Given the description of an element on the screen output the (x, y) to click on. 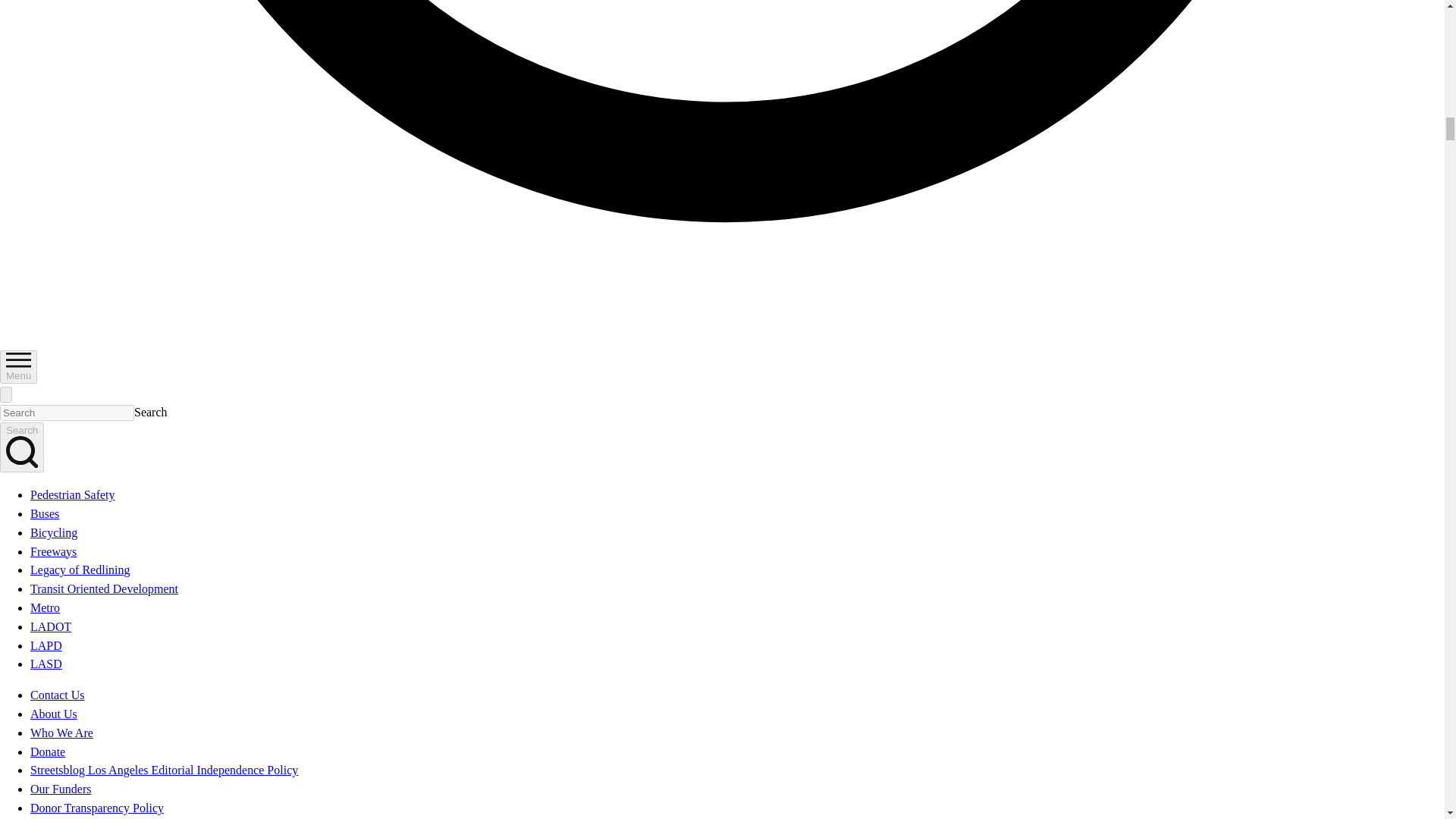
Freeways (53, 551)
Legacy of Redlining (80, 569)
Metro (44, 607)
Streetsblog Los Angeles Editorial Independence Policy (164, 769)
About Us (53, 713)
Pedestrian Safety (72, 494)
Who We Are (61, 732)
LADOT (50, 626)
Bicycling (53, 532)
LASD (46, 663)
Donate (47, 751)
Donor Transparency Policy (96, 807)
Menu (18, 366)
Contact Us (57, 694)
Our Funders (60, 788)
